Given the description of an element on the screen output the (x, y) to click on. 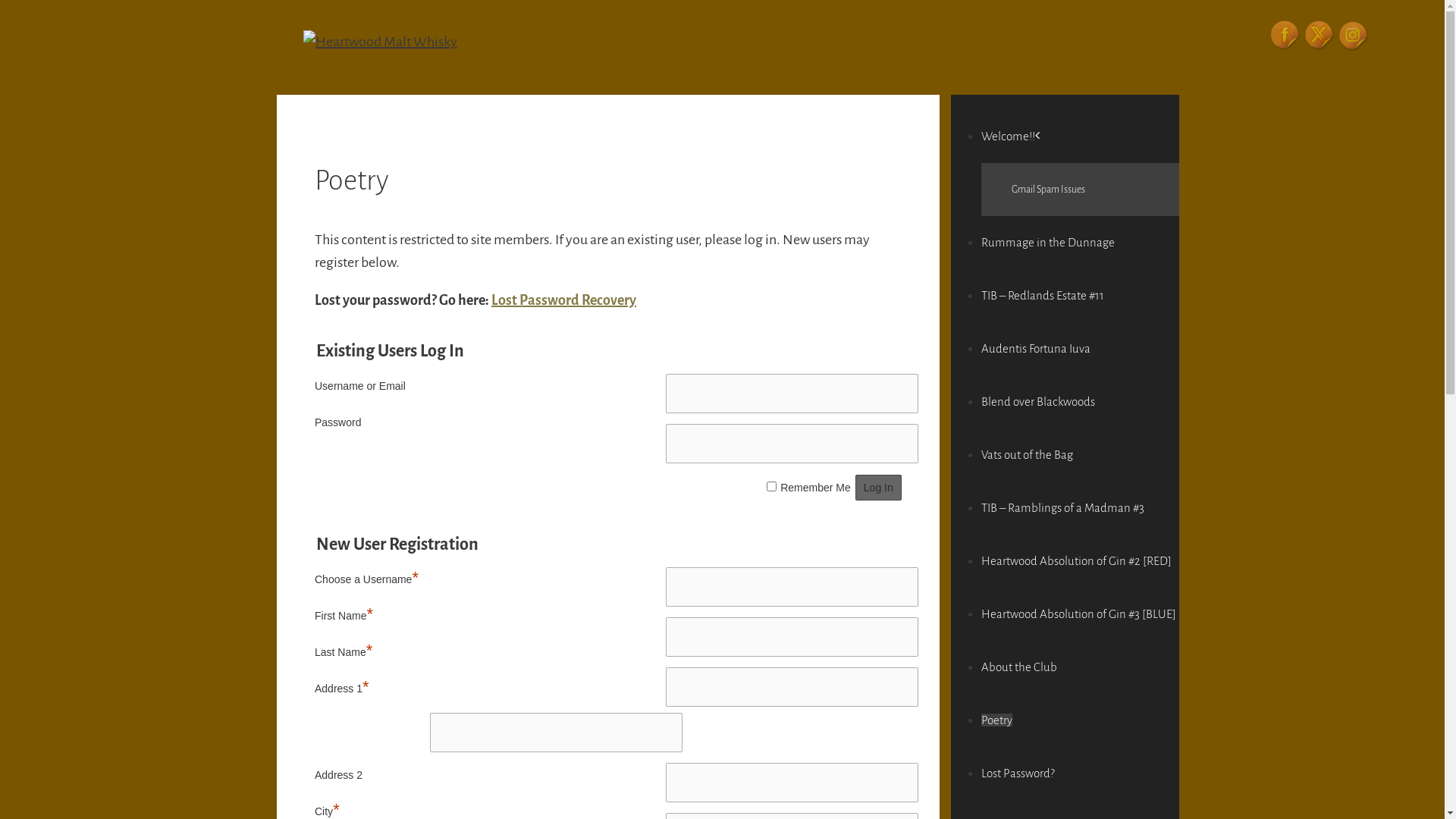
Heartwood Absolution of Gin #2 [RED] Element type: text (1076, 560)
About the Club Element type: text (1019, 666)
Rummage in the Dunnage Element type: text (1047, 241)
Instagram Element type: hover (1353, 35)
Poetry Element type: text (996, 719)
Audentis Fortuna Iuva Element type: text (1035, 348)
Twitter Element type: hover (1319, 35)
Lost Password? Element type: text (1017, 772)
Welcome!! Element type: text (1013, 135)
Heartwood Absolution of Gin #3 [BLUE] Element type: text (1078, 613)
Log In Element type: text (878, 487)
Lost Password Recovery Element type: text (563, 299)
Blend over Blackwoods Element type: text (1038, 401)
Facebook Element type: hover (1285, 35)
Gmail Spam Issues Element type: text (1048, 189)
Vats out of the Bag Element type: text (1027, 454)
